Given the description of an element on the screen output the (x, y) to click on. 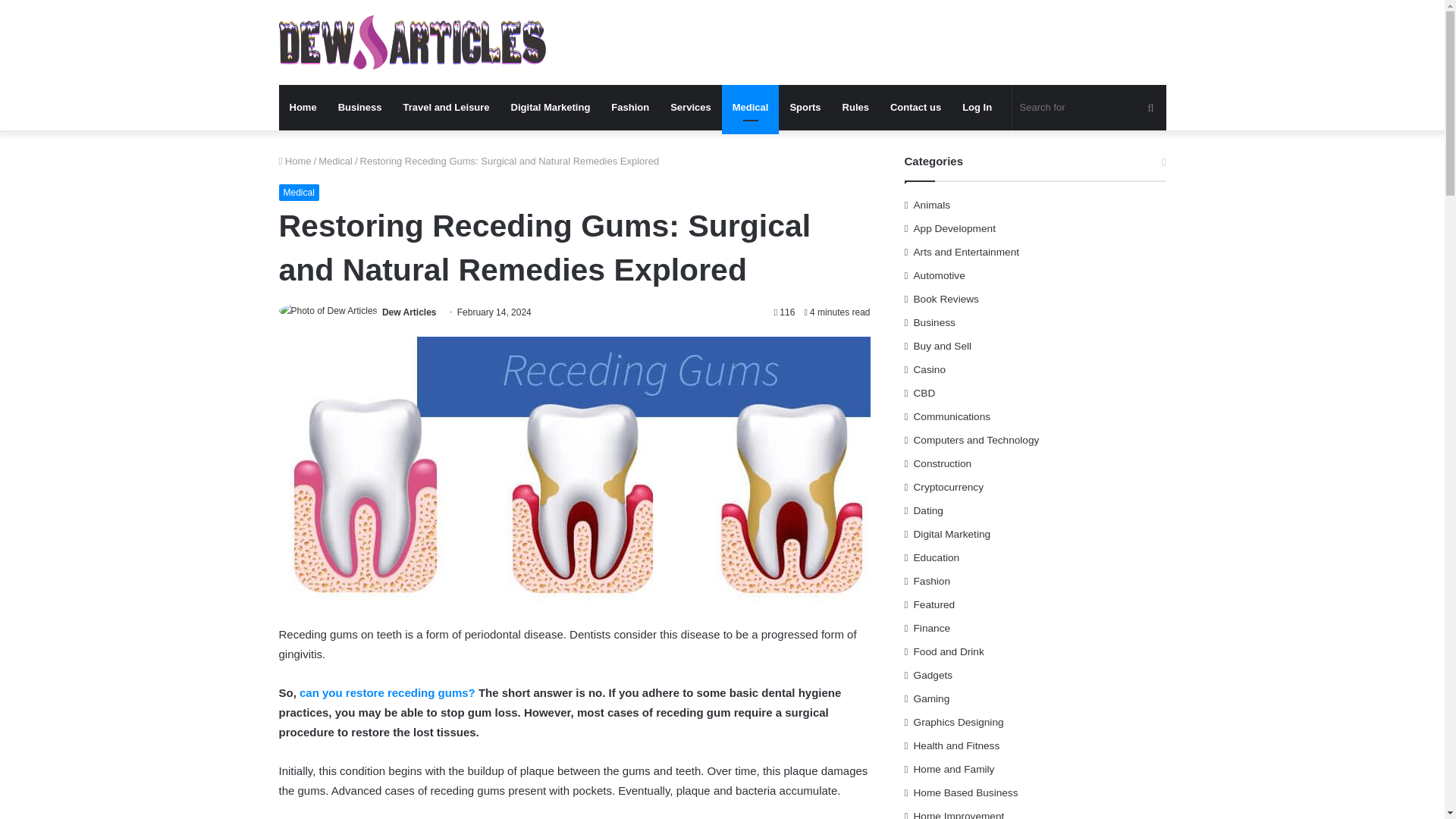
Sports (804, 107)
Business (360, 107)
Dew Articles (408, 312)
Home (295, 161)
Medical (335, 161)
Contact us (915, 107)
Dew Articles (408, 312)
Medical (750, 107)
Home (303, 107)
Rules (855, 107)
Dew Articles (412, 42)
can you restore receding gums? (387, 692)
Fashion (629, 107)
Travel and Leisure (445, 107)
Medical (298, 192)
